Given the description of an element on the screen output the (x, y) to click on. 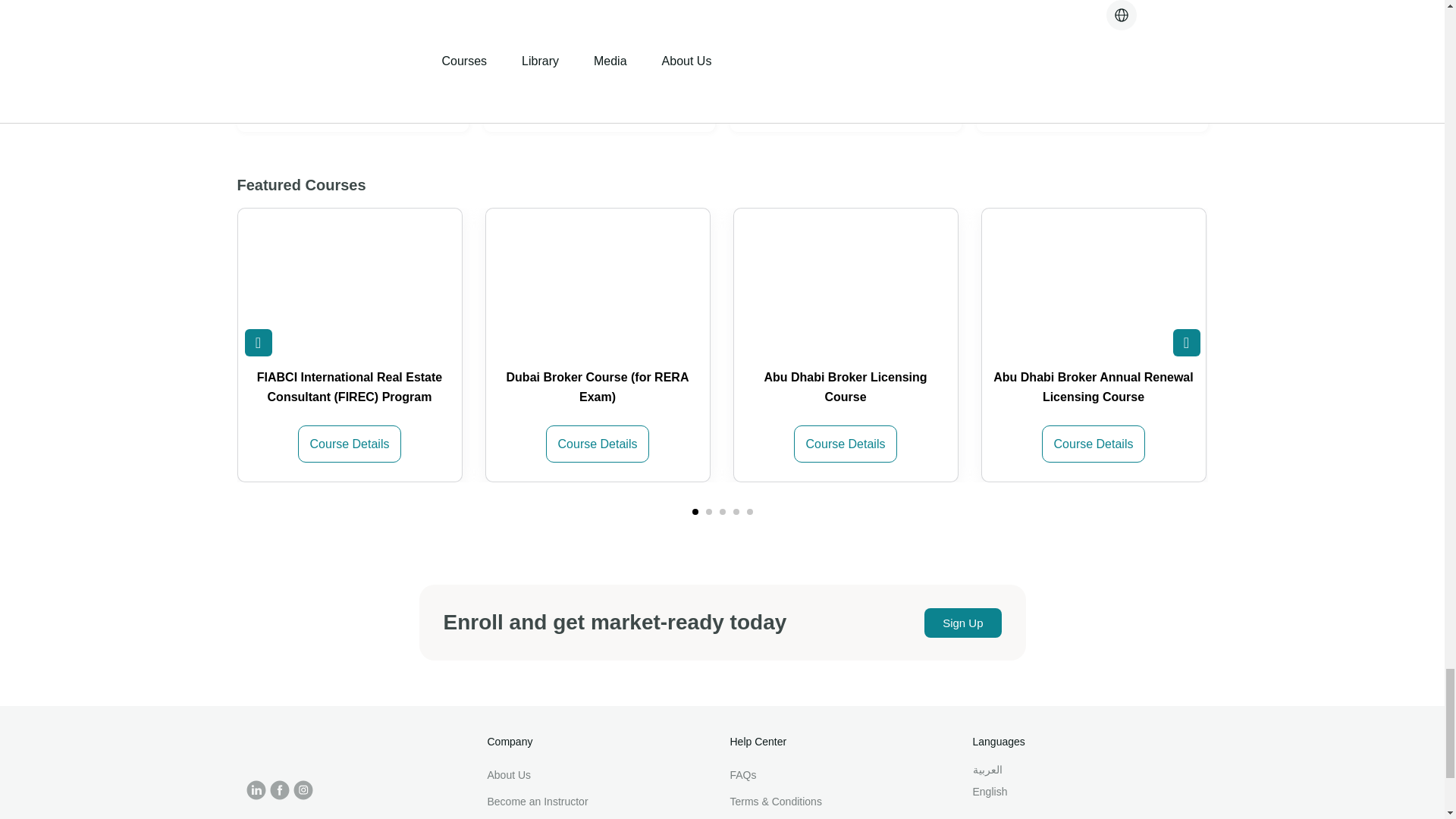
Course Details (845, 443)
Course Details (597, 443)
Course Details (349, 443)
Course Details (596, 284)
Course Details (845, 284)
Course Details (1093, 284)
Course Details (349, 284)
Course Details (1093, 443)
